Given the description of an element on the screen output the (x, y) to click on. 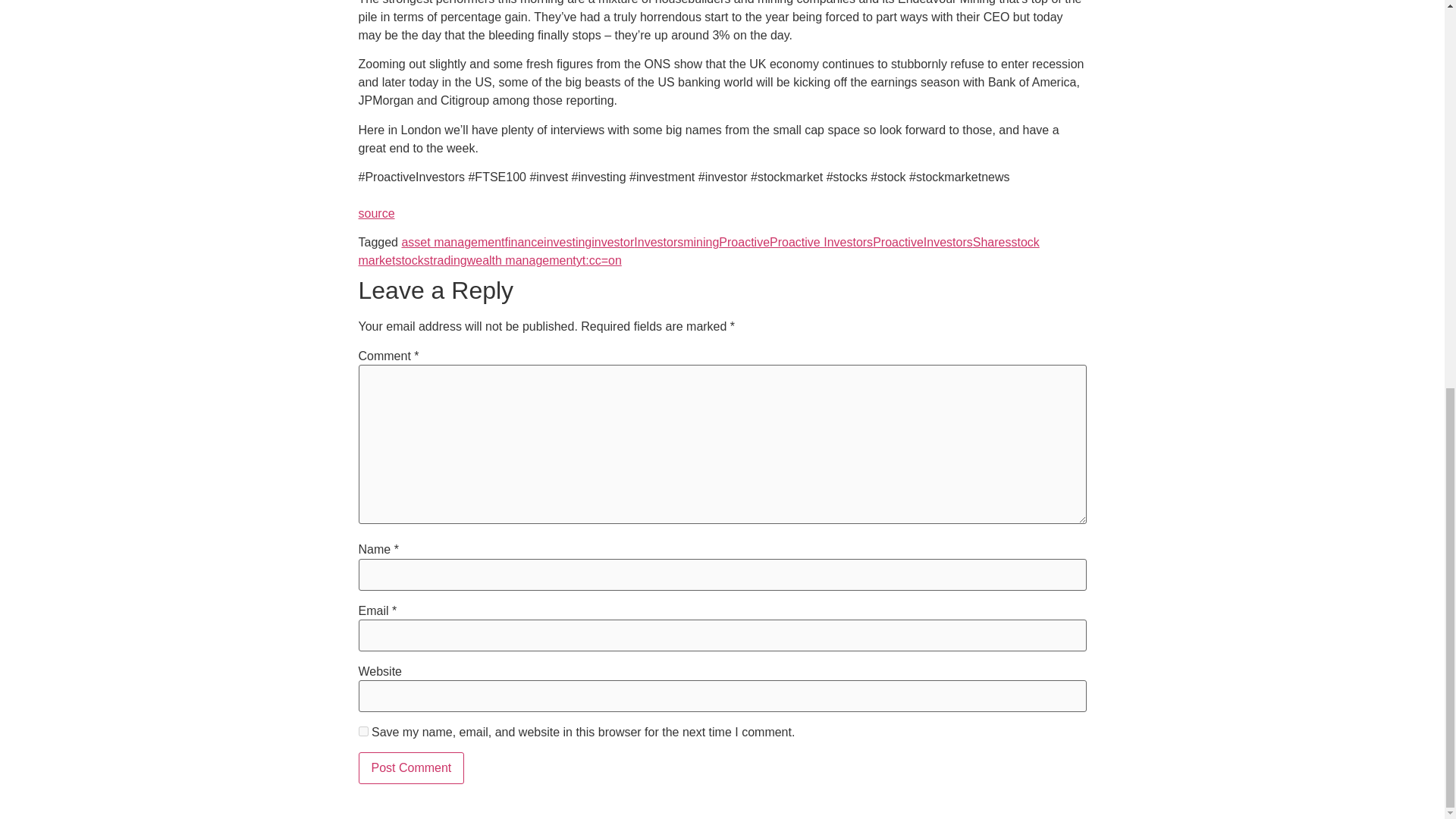
Post Comment (411, 767)
stocks (411, 259)
ProactiveInvestors (922, 241)
asset management (452, 241)
Proactive Investors (821, 241)
Investors (657, 241)
mining (700, 241)
investor (612, 241)
finance (524, 241)
wealth management (521, 259)
source (376, 213)
Post Comment (411, 767)
Shares (991, 241)
trading (448, 259)
Proactive (744, 241)
